Given the description of an element on the screen output the (x, y) to click on. 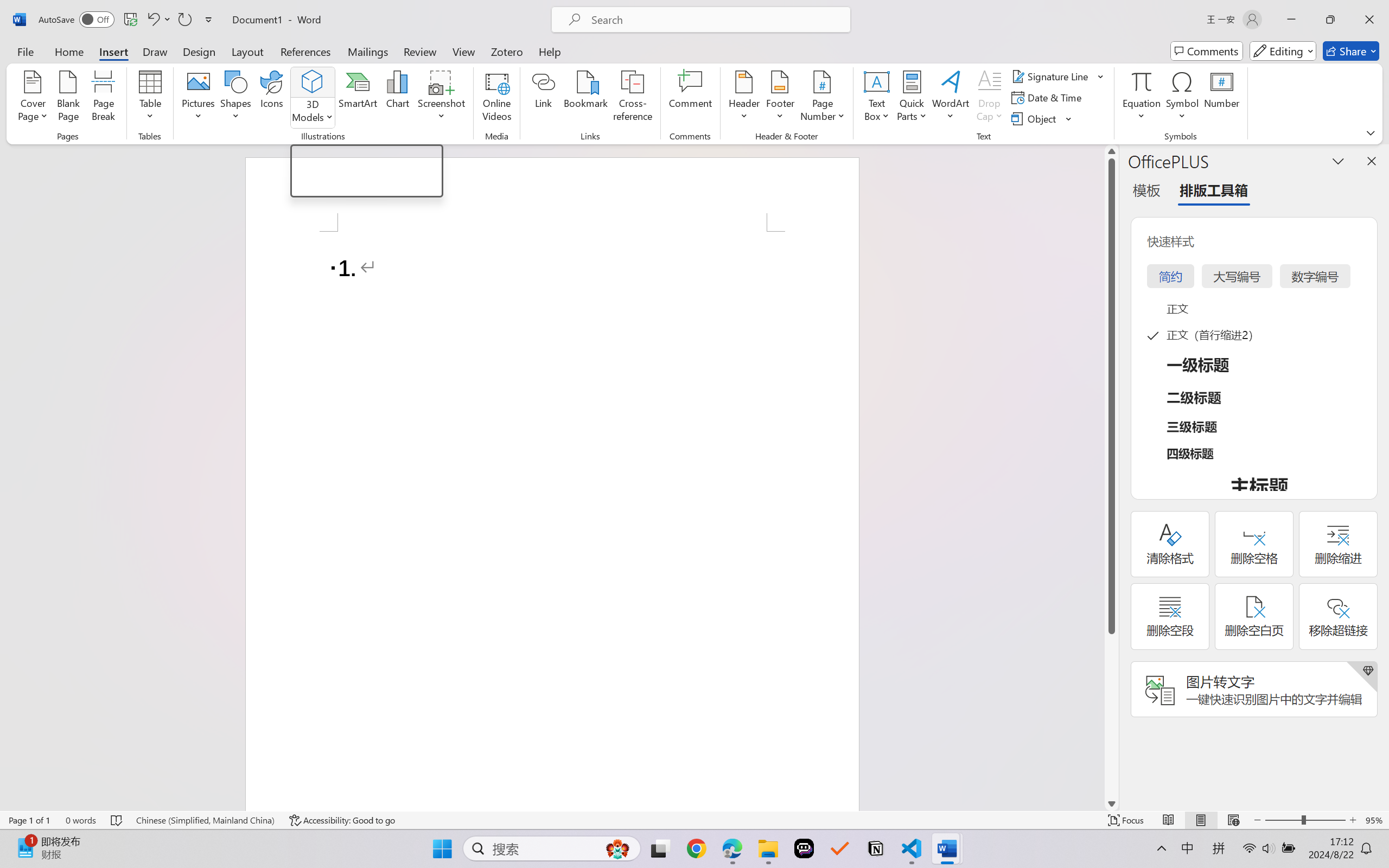
WordArt (950, 97)
Number... (1221, 97)
Equation (1141, 97)
Footer (780, 97)
